Given the description of an element on the screen output the (x, y) to click on. 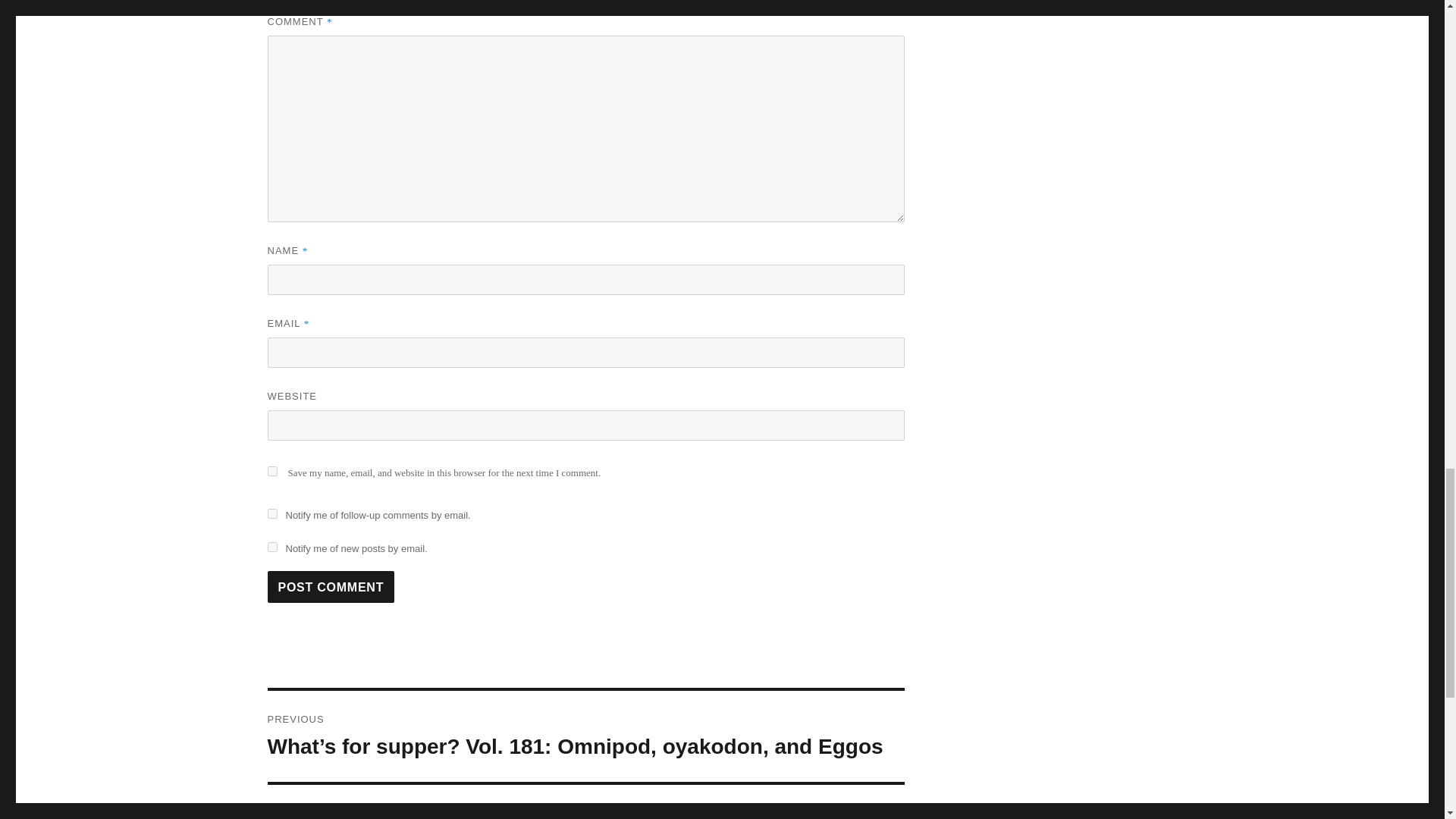
10 ridiculous family games that need no equipment (1005, 99)
Post Comment (585, 801)
subscribe (330, 586)
yes (271, 513)
The table where you sit (271, 470)
subscribe (1120, 99)
Post Comment (271, 547)
